Given the description of an element on the screen output the (x, y) to click on. 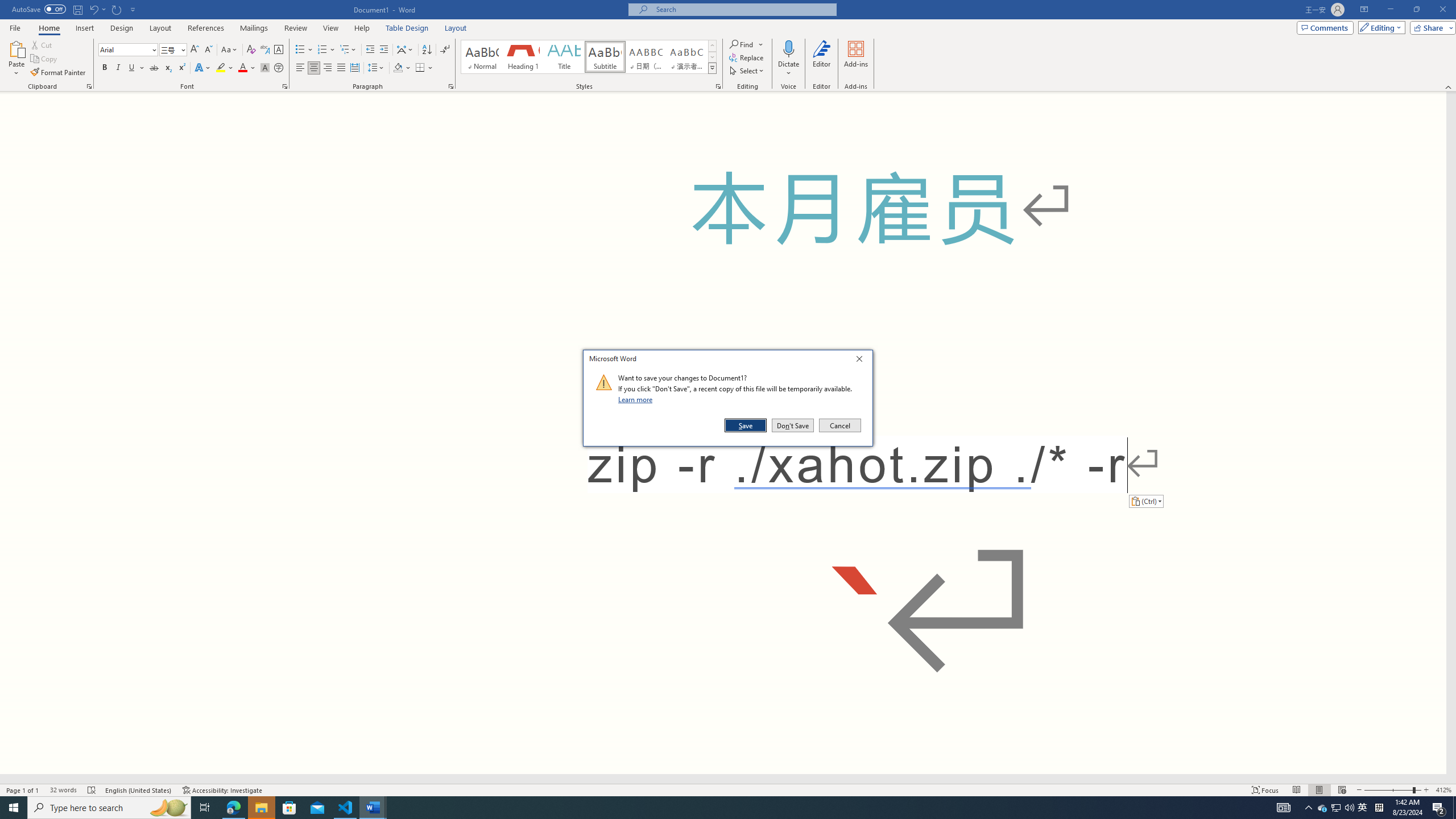
Task View (204, 807)
File Explorer - 1 running window (261, 807)
References (205, 28)
Zoom (1392, 790)
Line and Paragraph Spacing (376, 67)
Subtitle (605, 56)
Text Highlight Color (224, 67)
Multilevel List (347, 49)
Page Number Page 1 of 1 (22, 790)
Copy (45, 58)
Sort... (426, 49)
Dictate (788, 48)
AutoSave (38, 9)
